Given the description of an element on the screen output the (x, y) to click on. 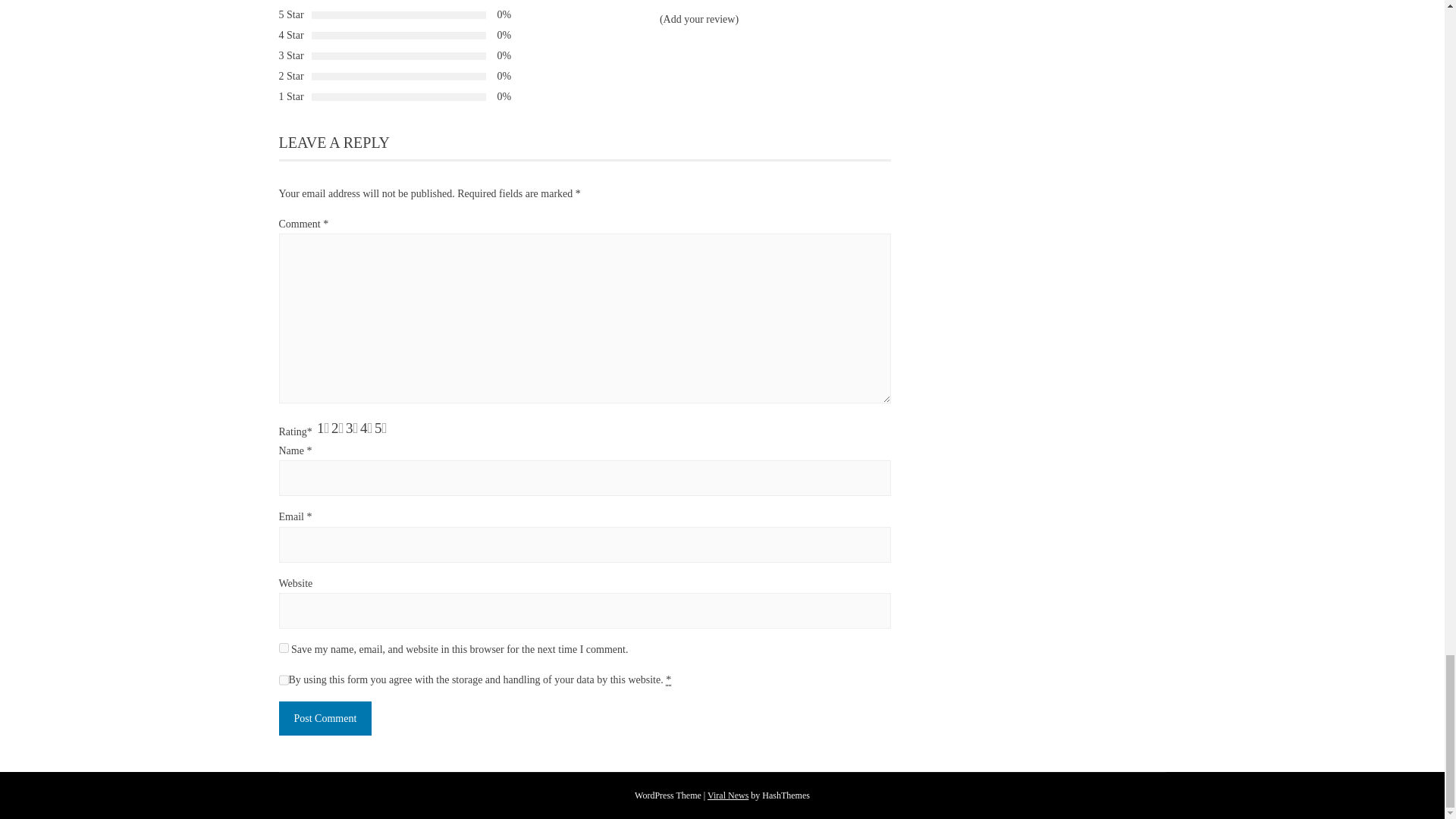
yes (283, 647)
Post Comment (325, 718)
Download Viral News (727, 795)
